Given the description of an element on the screen output the (x, y) to click on. 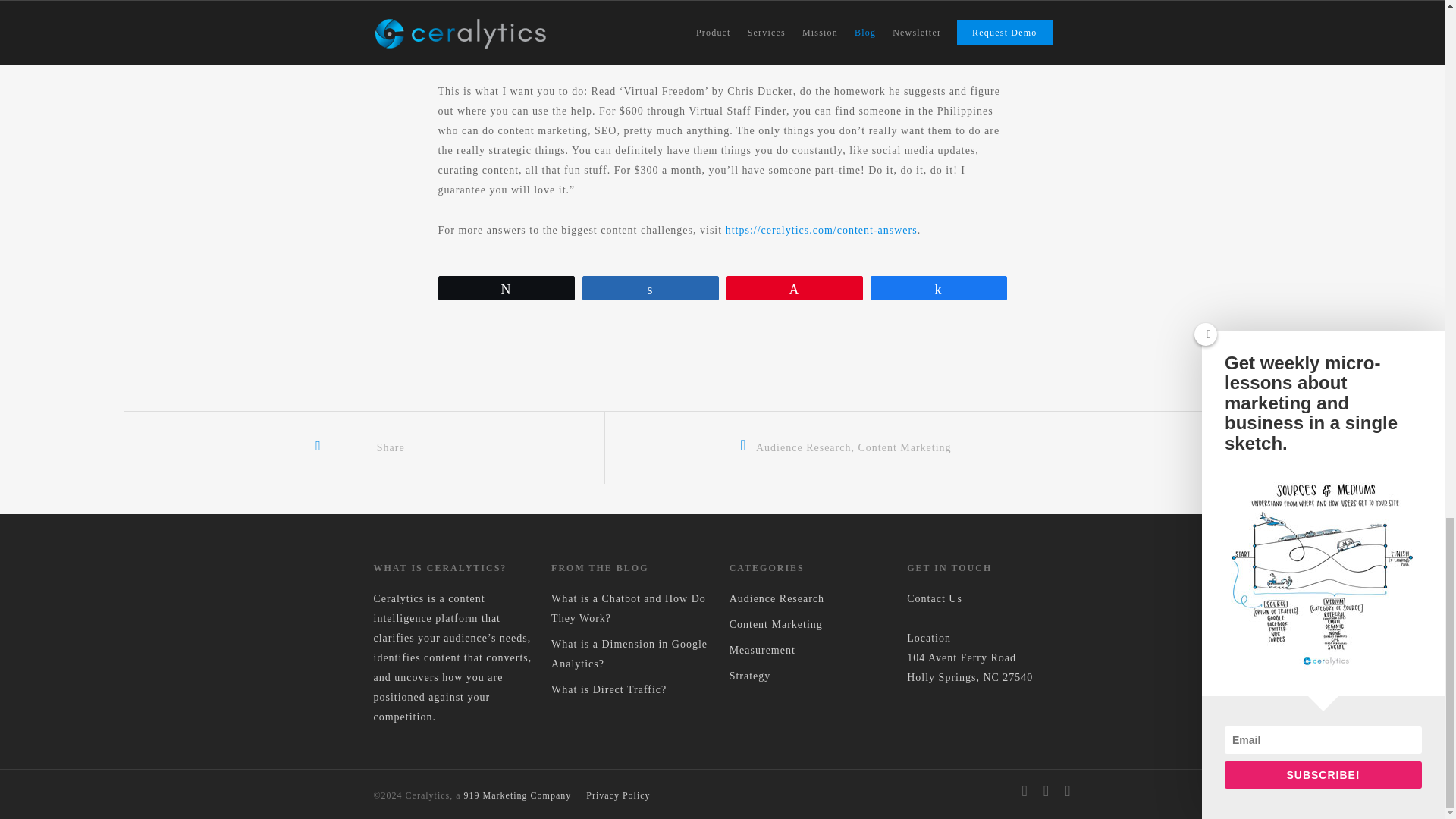
919 Marketing Company (518, 795)
Contact Us (934, 598)
What is a Dimension in Google Analytics? (632, 654)
Measurement (811, 650)
Content Marketing (903, 447)
Content Marketing (811, 624)
What is a Chatbot and How Do They Work? (632, 608)
Share (367, 447)
What is Direct Traffic? (632, 690)
Audience Research (802, 447)
Strategy (811, 676)
Audience Research (811, 598)
